Given the description of an element on the screen output the (x, y) to click on. 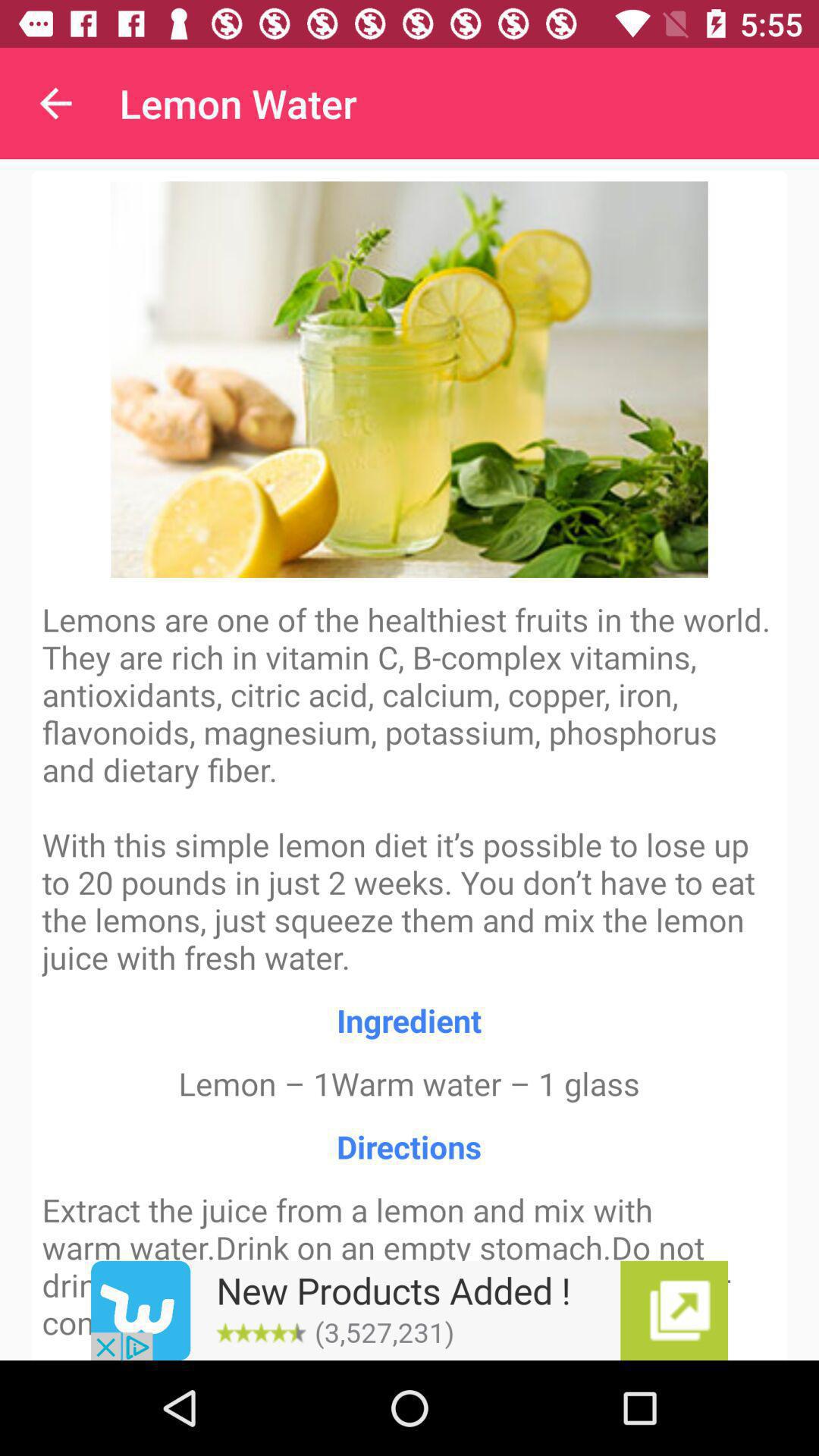
turn off icon below the directions item (409, 1310)
